Given the description of an element on the screen output the (x, y) to click on. 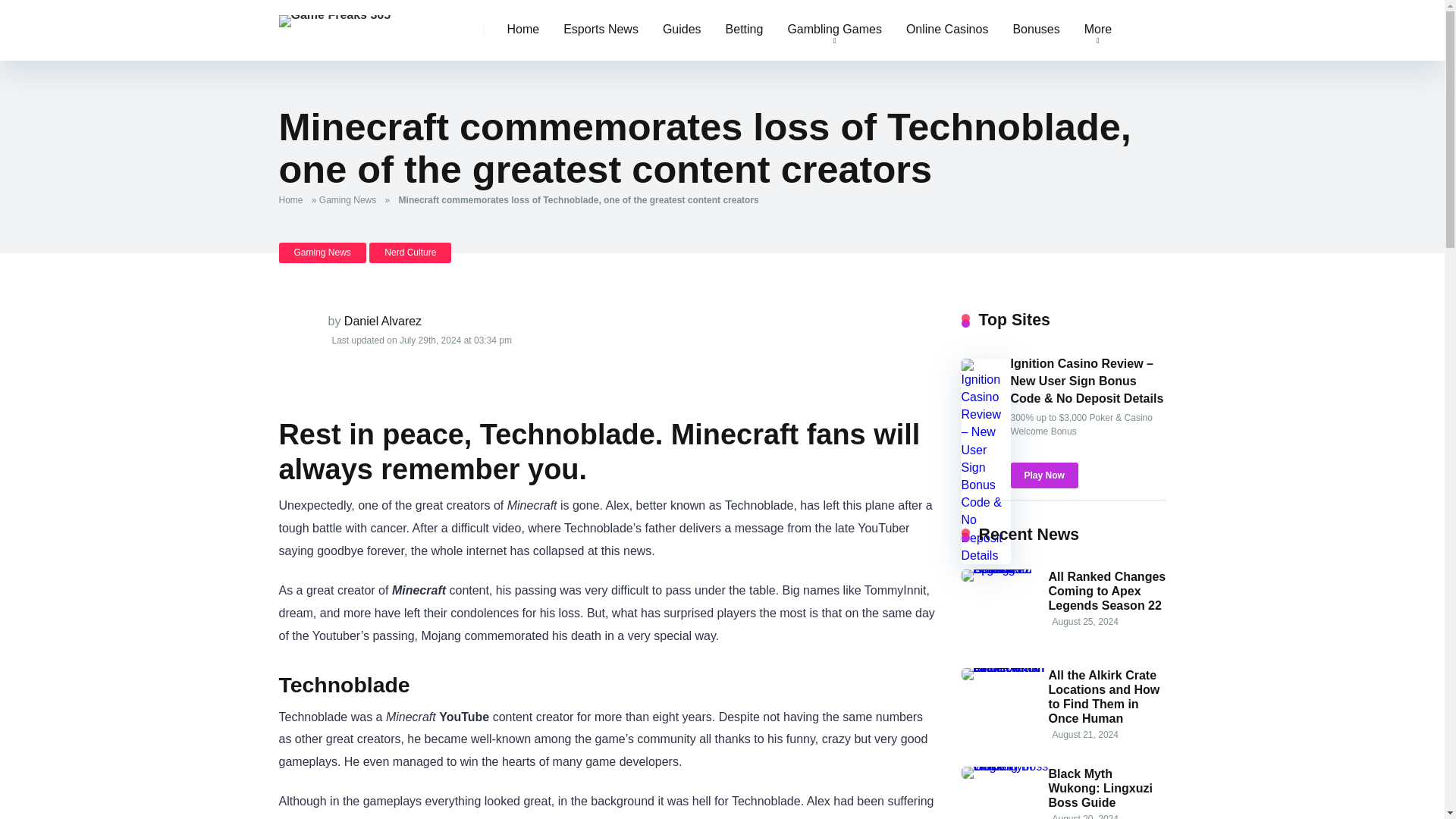
Gaming News (322, 252)
Black Myth Wukong: Lingxuzi Boss Guide (1099, 788)
All Ranked Changes Coming to Apex Legends Season 22 (1004, 568)
Gaming News (349, 199)
Daniel Alvarez (382, 320)
Bonuses (1035, 30)
Black Myth Wukong: Lingxuzi Boss Guide (1004, 766)
Esports News (600, 30)
Home (293, 199)
Guides (681, 30)
